Given the description of an element on the screen output the (x, y) to click on. 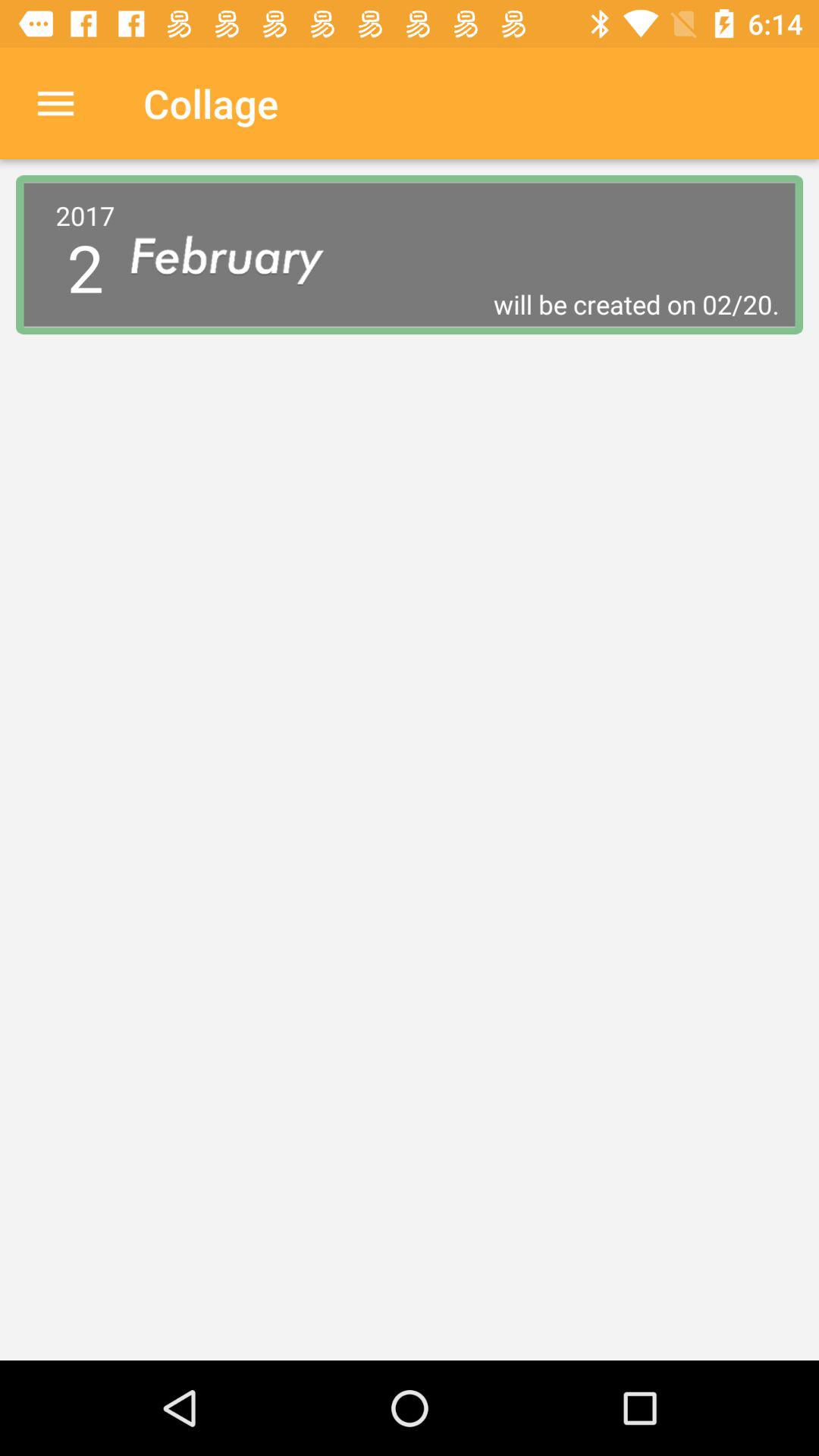
choose icon next to the 2017
2 icon (239, 254)
